Given the description of an element on the screen output the (x, y) to click on. 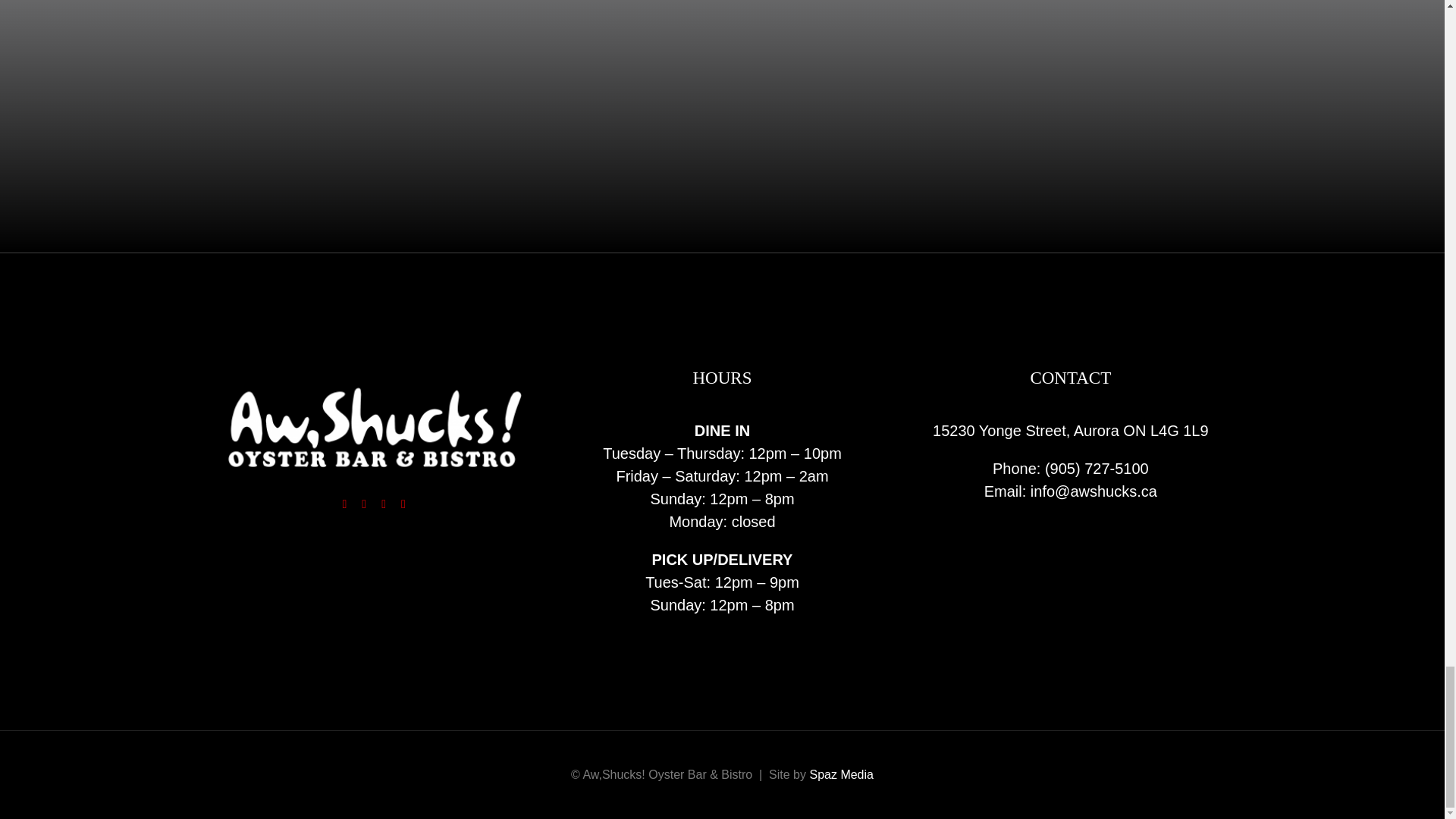
Spaz Media (841, 774)
15230 Yonge Street, Aurora ON L4G 1L9 (1070, 430)
aw-shucks-logo-white (373, 426)
